Given the description of an element on the screen output the (x, y) to click on. 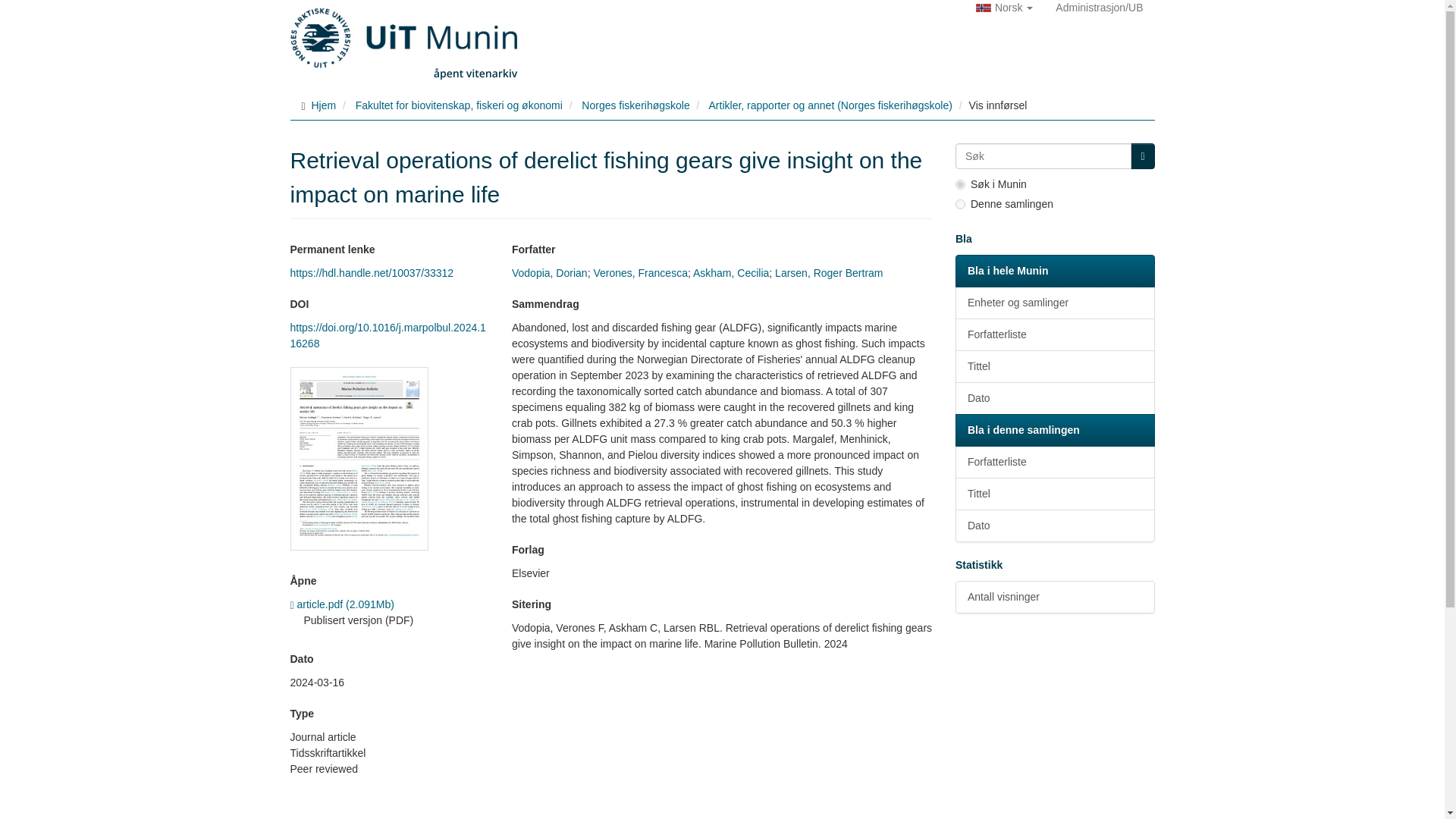
Larsen, Roger Bertram (828, 272)
Askham, Cecilia (730, 272)
Dato (1054, 398)
Bla i denne samlingen (1054, 430)
Enheter og samlinger (1054, 302)
Tittel (1054, 366)
Vodopia, Dorian (550, 272)
Hjem (323, 105)
Bla i hele Munin (1054, 270)
Verones, Francesca (639, 272)
